Given the description of an element on the screen output the (x, y) to click on. 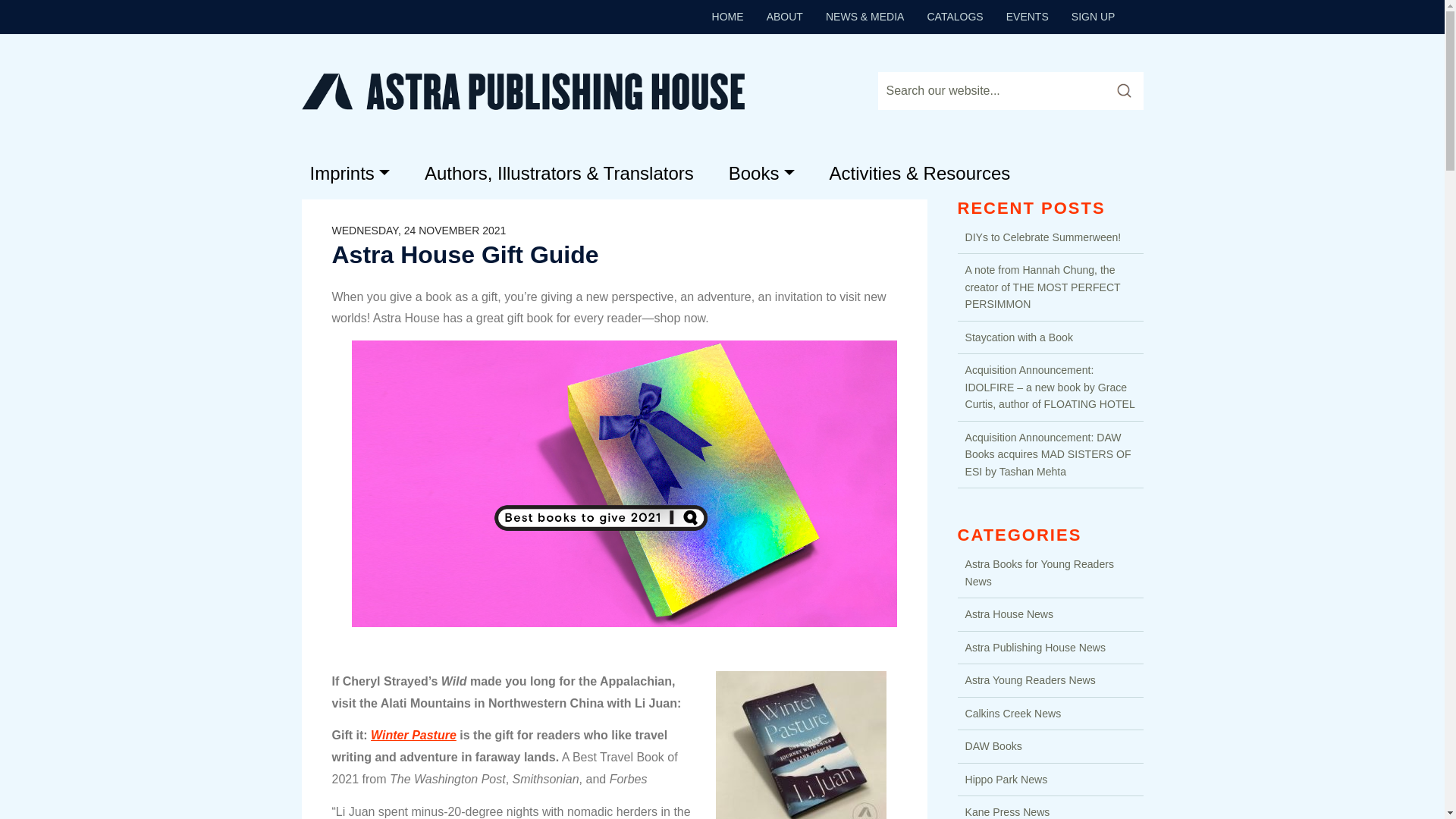
SIGN UP (1093, 15)
CATALOGS (954, 15)
HOME (727, 15)
Search our website... (989, 90)
Books (761, 172)
Imprints (349, 172)
ABOUT (784, 15)
Winter Pasture (414, 735)
EVENTS (1027, 15)
